Given the description of an element on the screen output the (x, y) to click on. 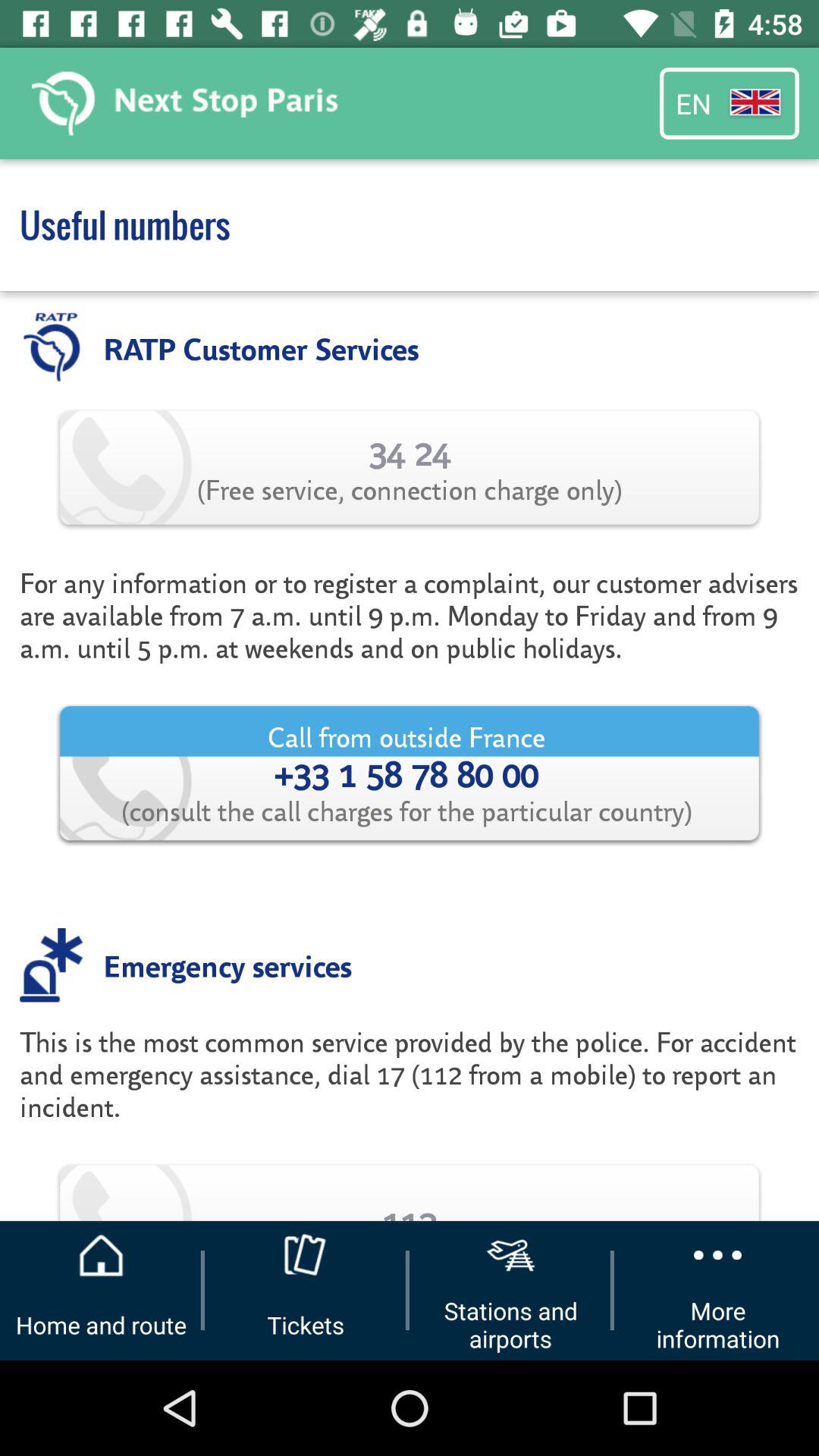
turn off ratp customer services (261, 347)
